Given the description of an element on the screen output the (x, y) to click on. 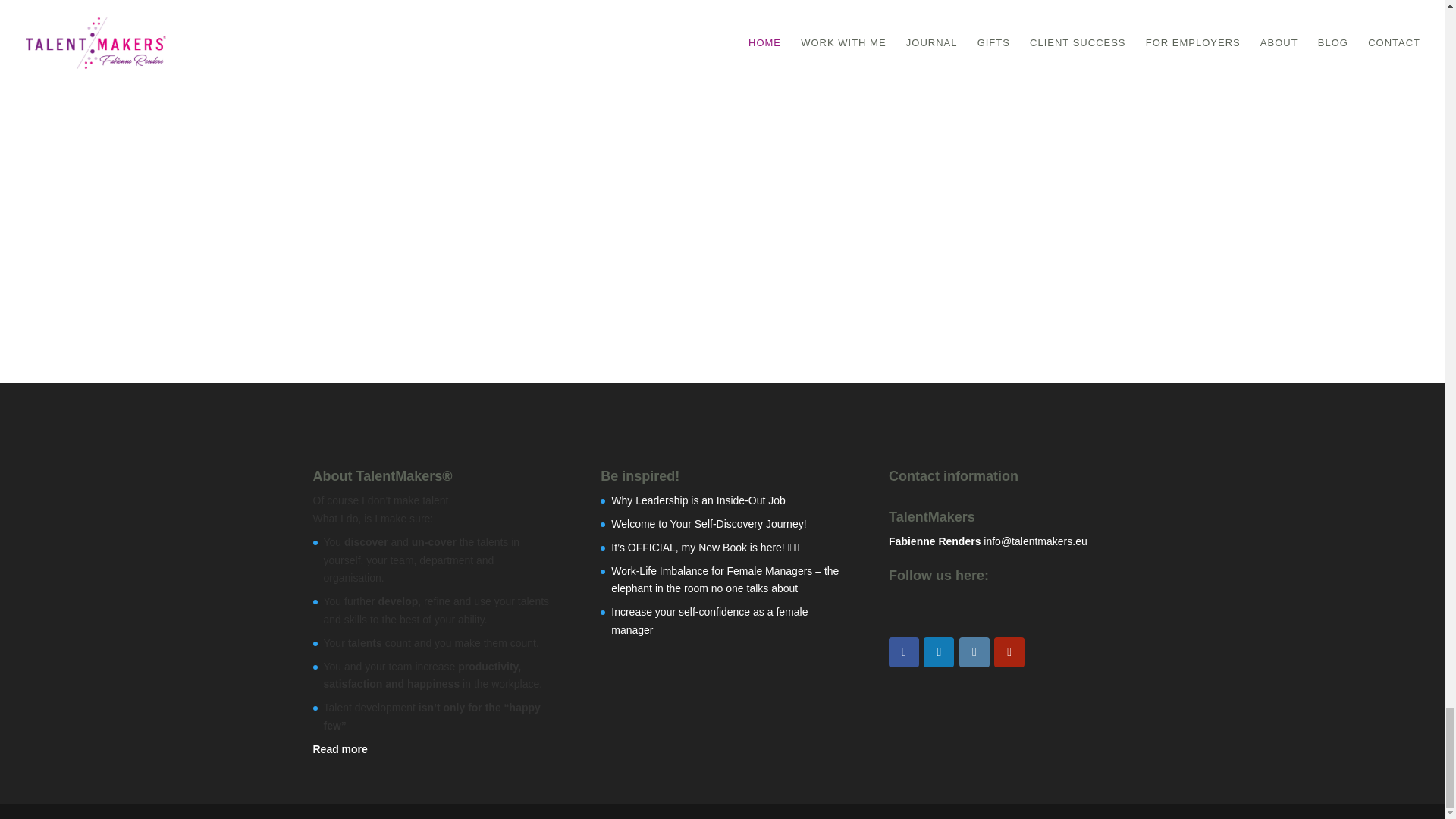
Welcome to Your Self-Discovery Journey! (708, 523)
Read more (339, 748)
Why Leadership is an Inside-Out Job (698, 500)
Increase your self-confidence as a female manager (709, 621)
